Given the description of an element on the screen output the (x, y) to click on. 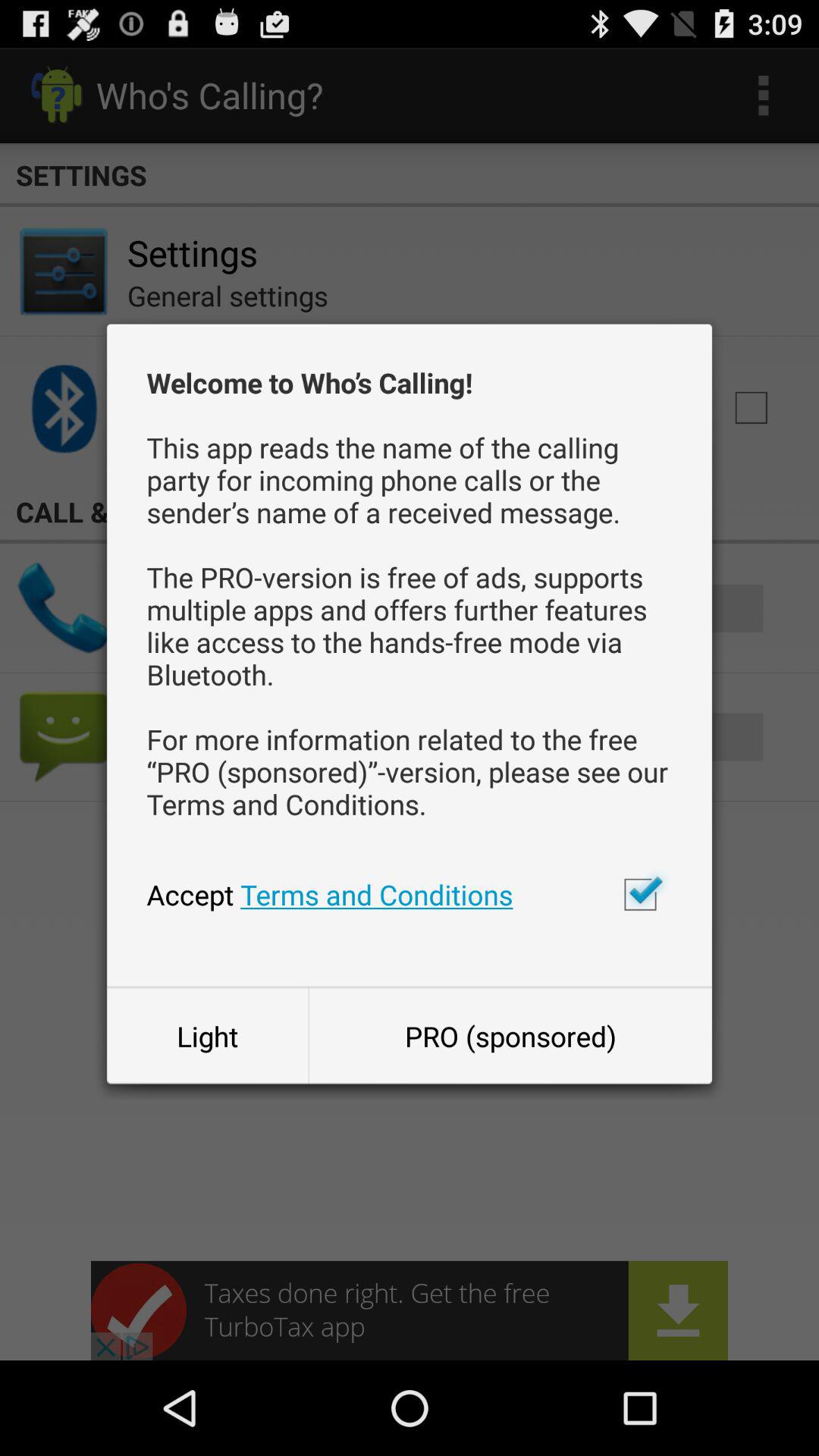
flip until pro (sponsored) (510, 1036)
